Given the description of an element on the screen output the (x, y) to click on. 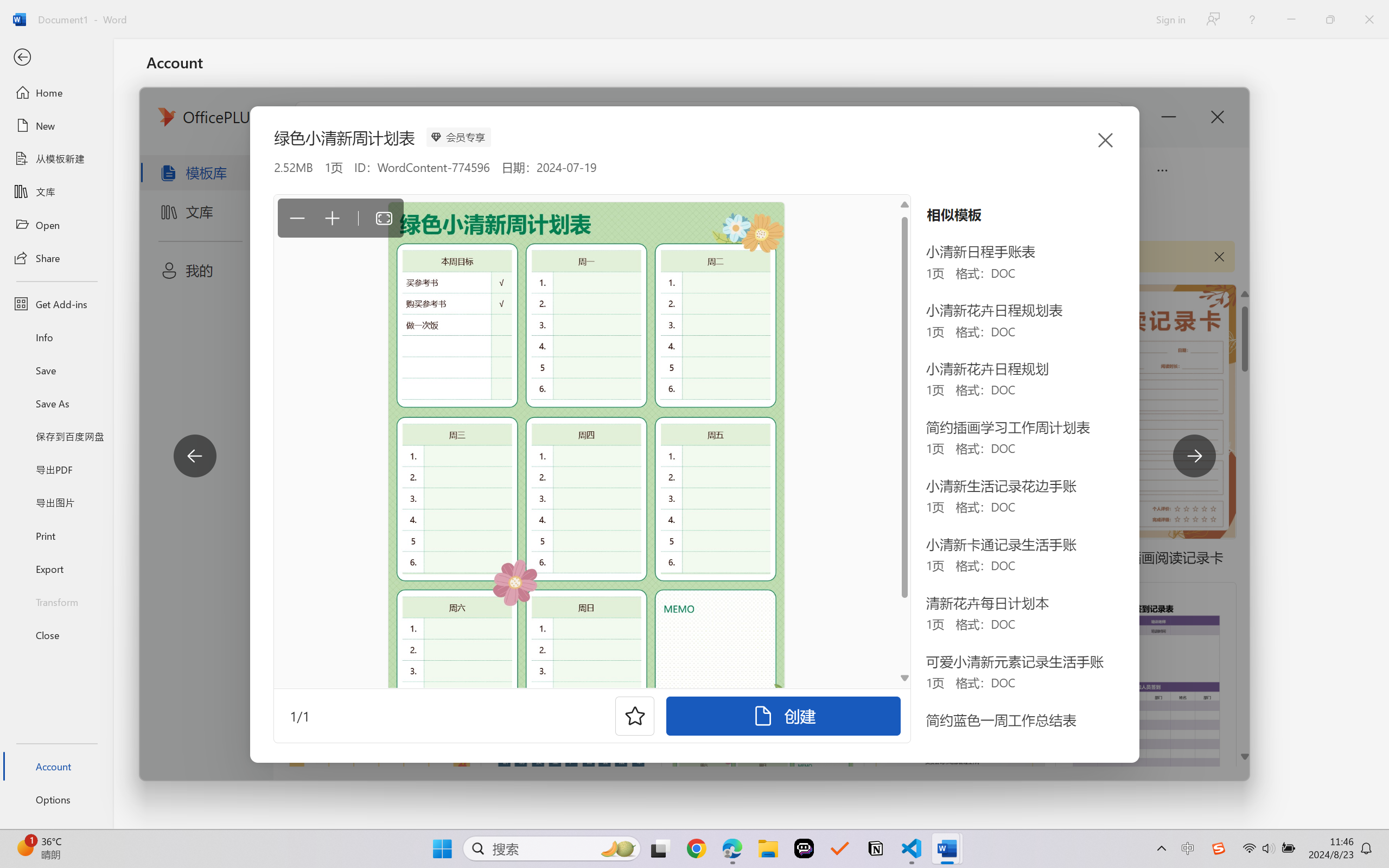
Print (56, 535)
Export (56, 568)
Save As (56, 403)
Sign in (1170, 18)
